Given the description of an element on the screen output the (x, y) to click on. 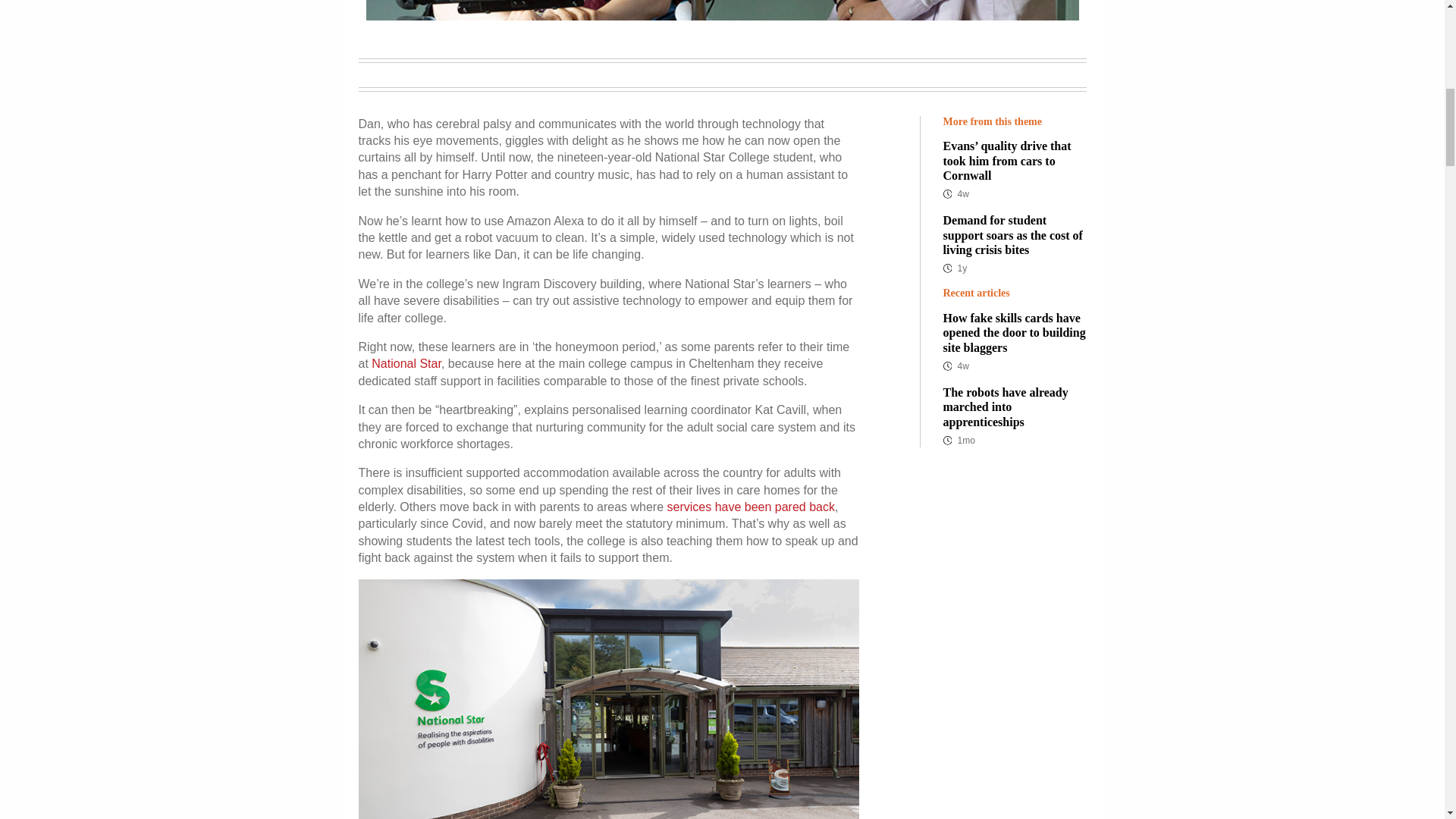
National Star (406, 363)
services have been pared back (750, 506)
